Given the description of an element on the screen output the (x, y) to click on. 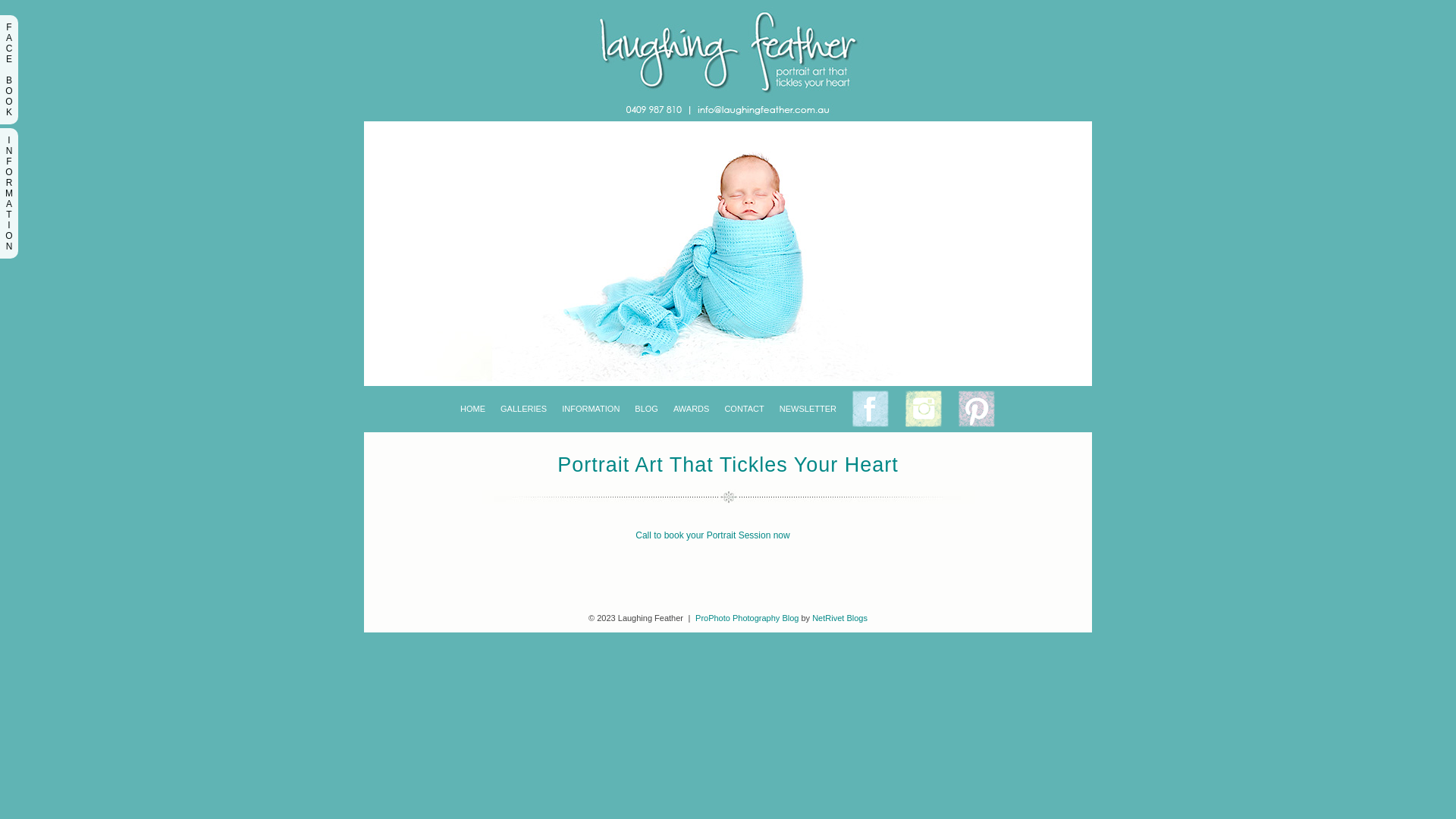
NEWSLETTER Element type: text (807, 408)
AWARDS Element type: text (691, 408)
CONTACT Element type: text (743, 408)
GALLERIES Element type: text (523, 408)
HOME Element type: text (472, 408)
BLOG Element type: text (646, 408)
NetRivet Blogs Element type: text (839, 617)
Call to book your Portrait Session now Element type: text (712, 535)
ProPhoto Photography Blog Element type: text (746, 617)
Laughing Feather Element type: hover (727, 117)
INFORMATION Element type: text (590, 408)
